Given the description of an element on the screen output the (x, y) to click on. 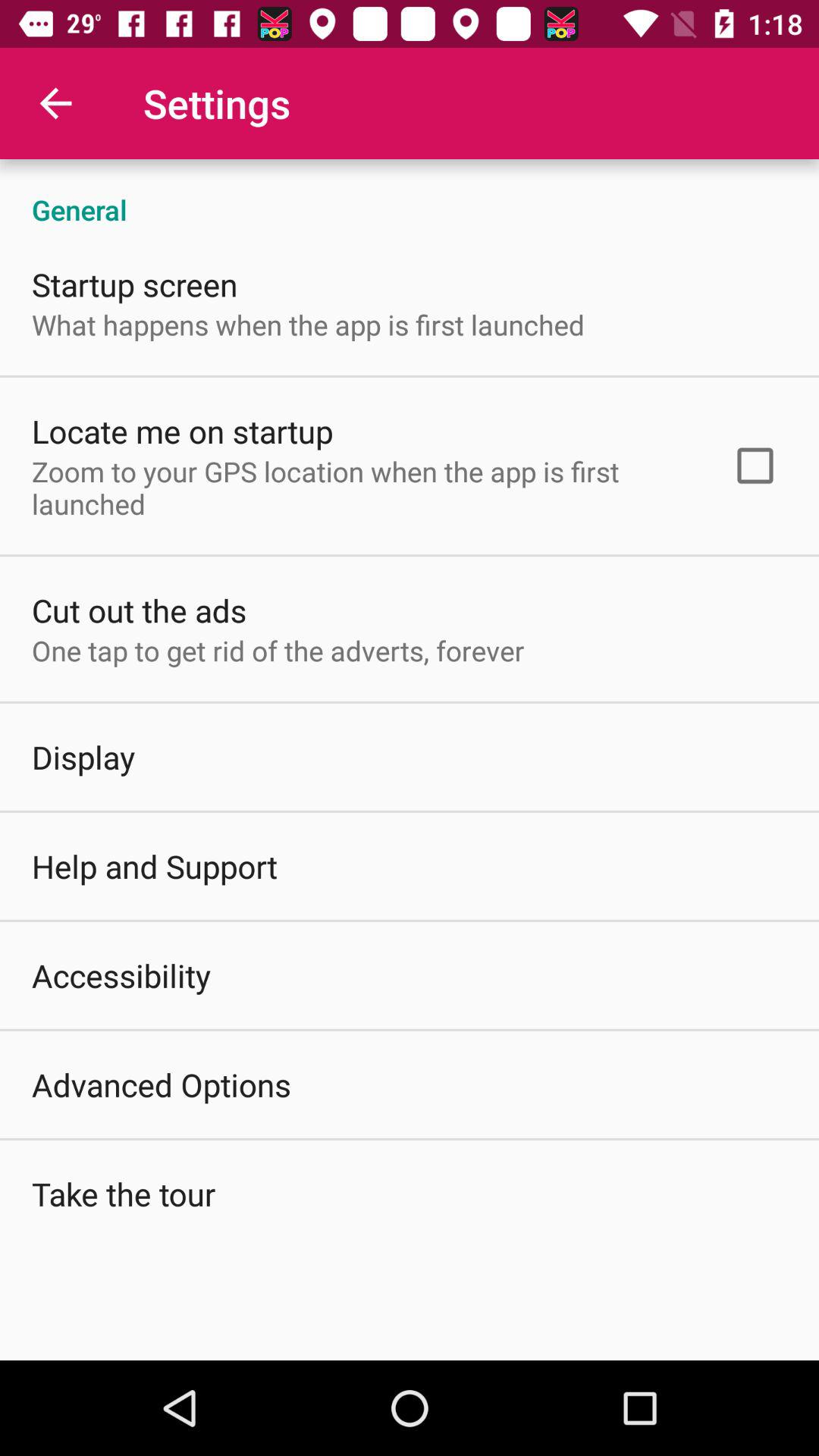
press the icon below the general icon (755, 465)
